Given the description of an element on the screen output the (x, y) to click on. 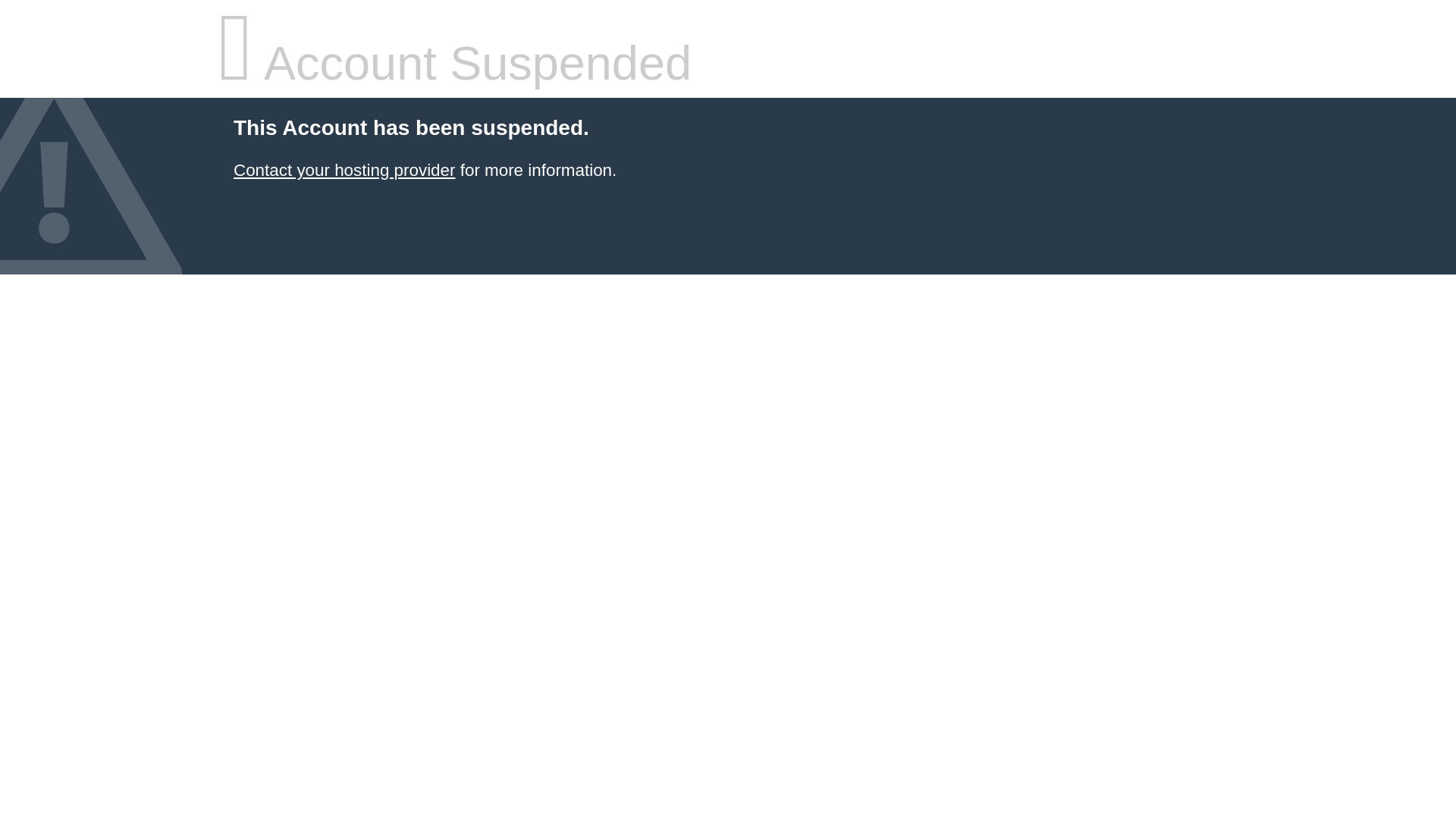
Contact your hosting provider (343, 169)
